Given the description of an element on the screen output the (x, y) to click on. 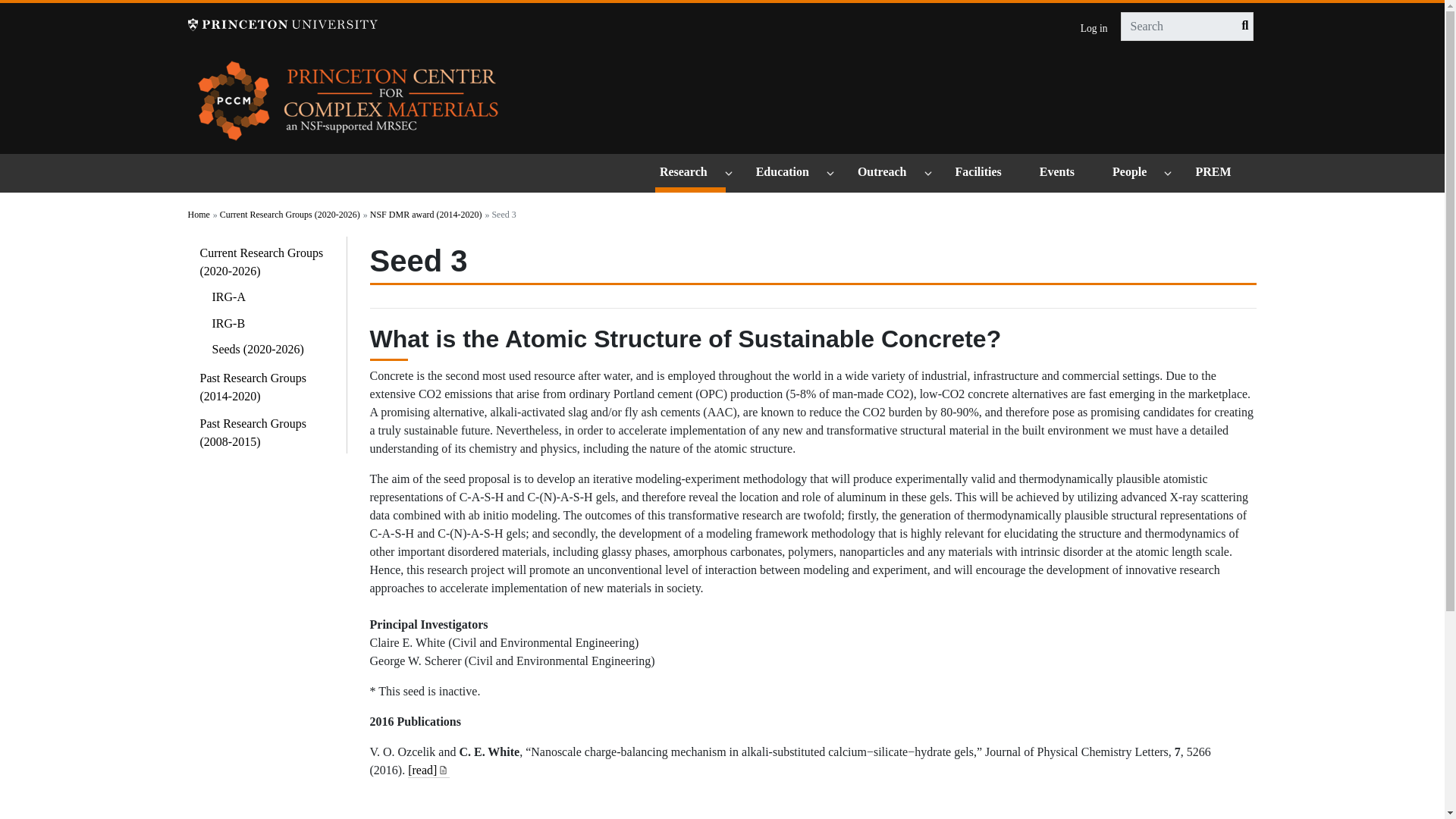
Link downloads document (442, 768)
Submit (1240, 25)
Home (349, 105)
Princeton University (282, 24)
